Given the description of an element on the screen output the (x, y) to click on. 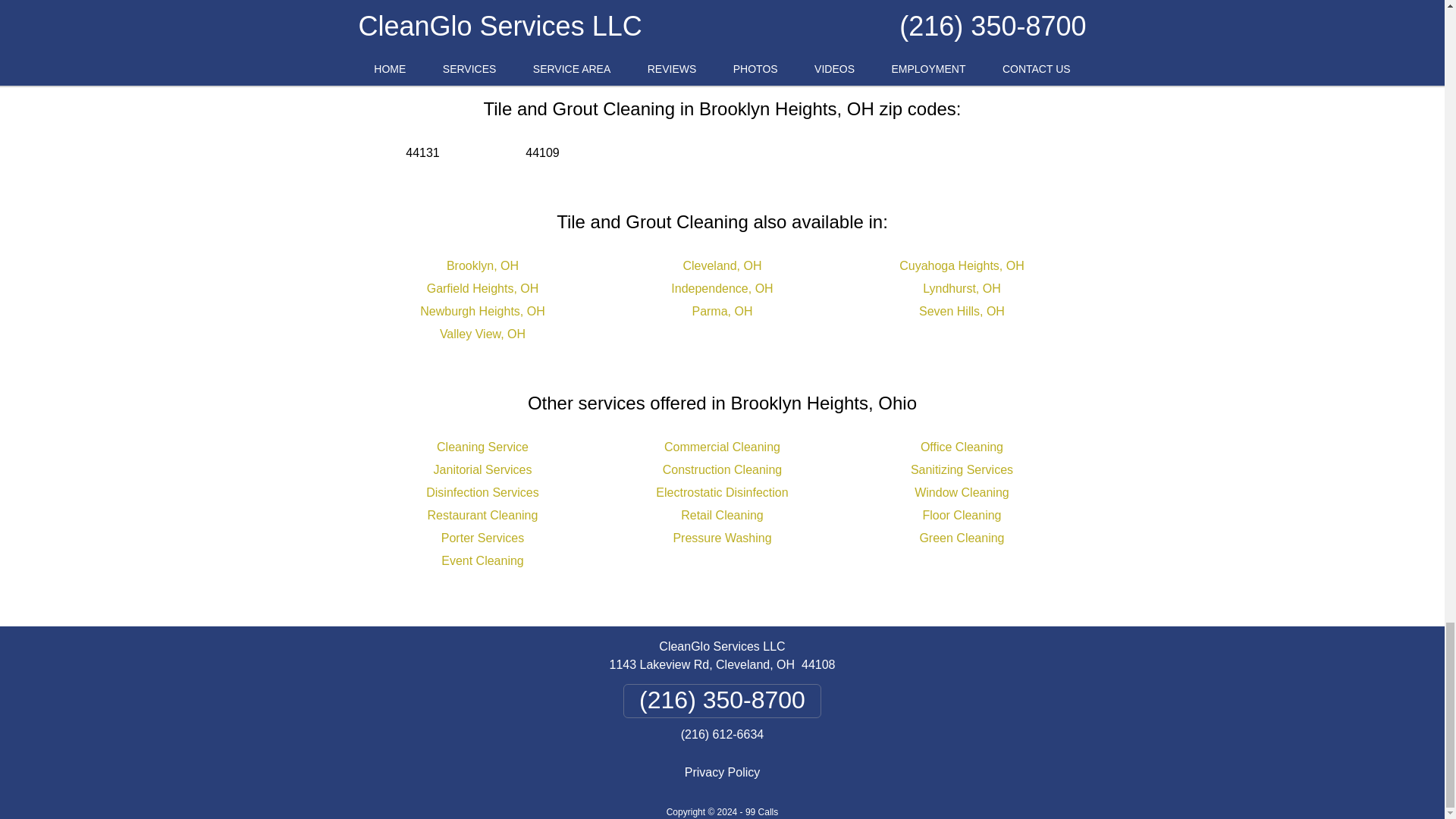
Facebook (610, 13)
Cleveland, OH (721, 265)
Brooklyn, OH (482, 265)
Google (702, 13)
Garfield Heights, OH (482, 287)
Houzz (846, 13)
Cuyahoga Heights, OH (962, 265)
Yelp (776, 13)
